Given the description of an element on the screen output the (x, y) to click on. 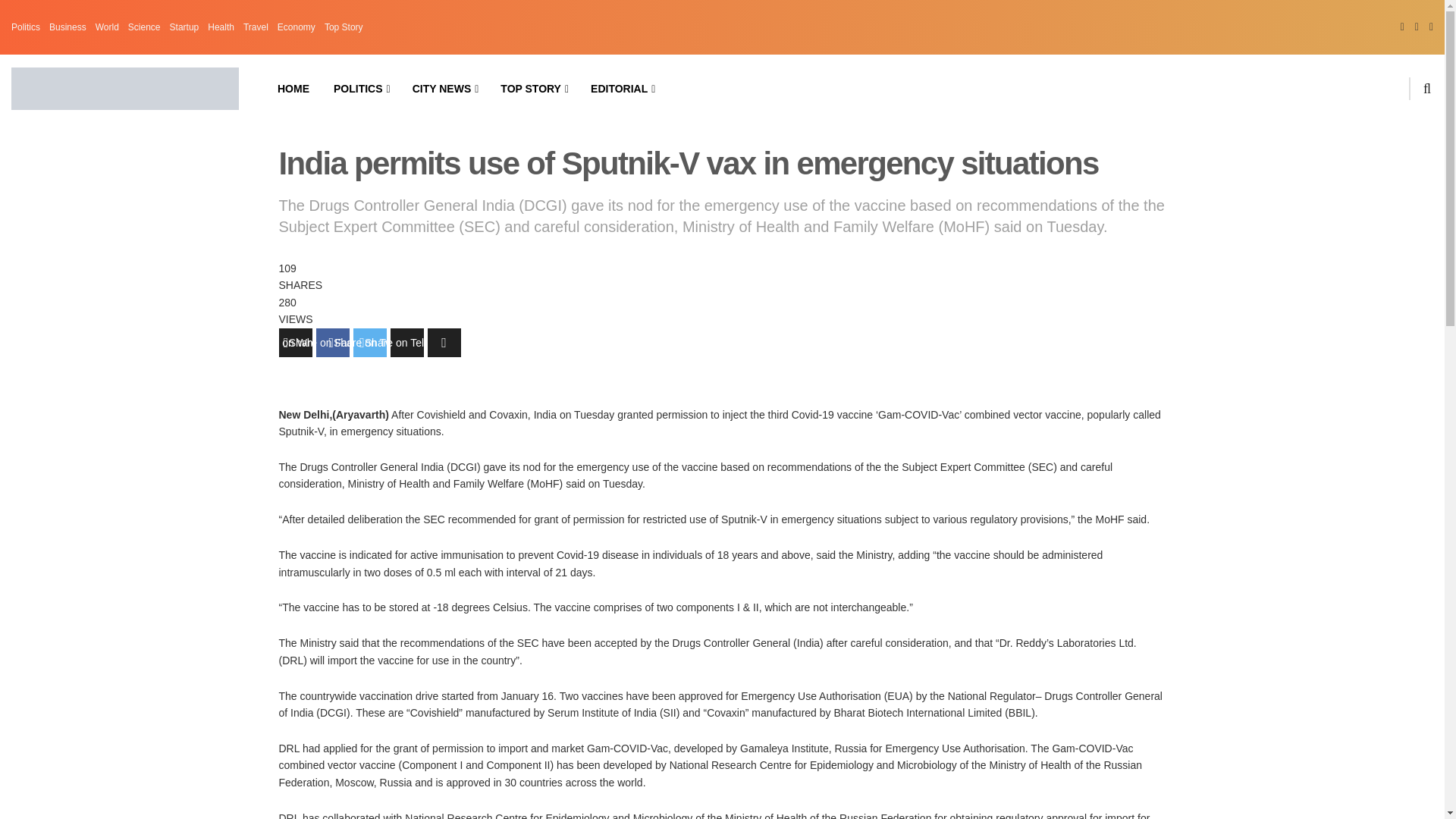
Share on Telegram (406, 342)
HOME (292, 88)
Share on Whatsapp (296, 342)
CITY NEWS (444, 88)
POLITICS (360, 88)
Share on Facebook (332, 342)
Share on Twitter (370, 342)
TOP STORY (532, 88)
EDITORIAL (621, 88)
